Given the description of an element on the screen output the (x, y) to click on. 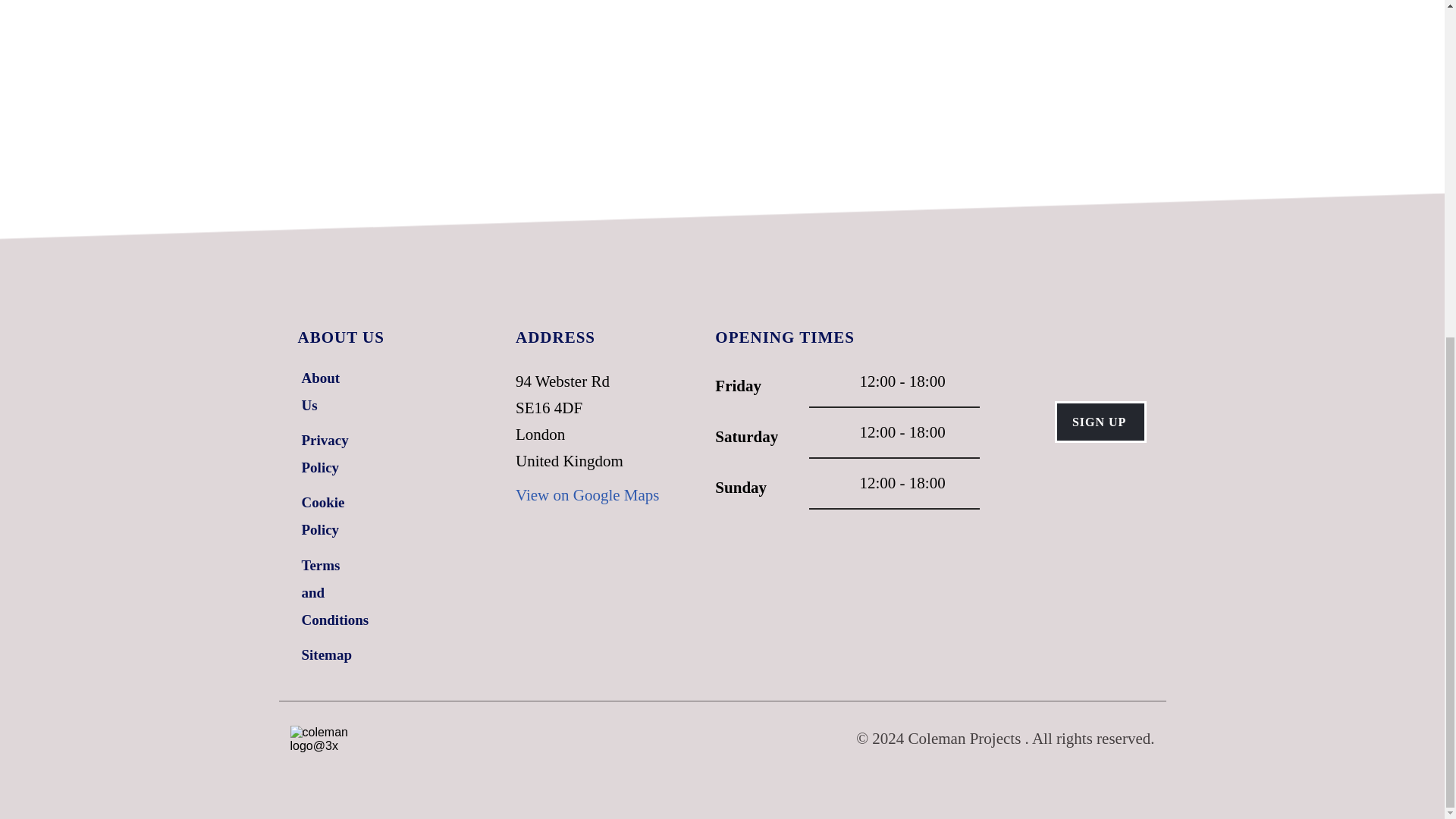
About Us (329, 391)
View this local business on Google Maps (587, 495)
Sitemap (329, 655)
Privacy Policy (329, 453)
SIGN UP  (1100, 421)
Cookie Policy (329, 515)
View on Google Maps (587, 495)
